Given the description of an element on the screen output the (x, y) to click on. 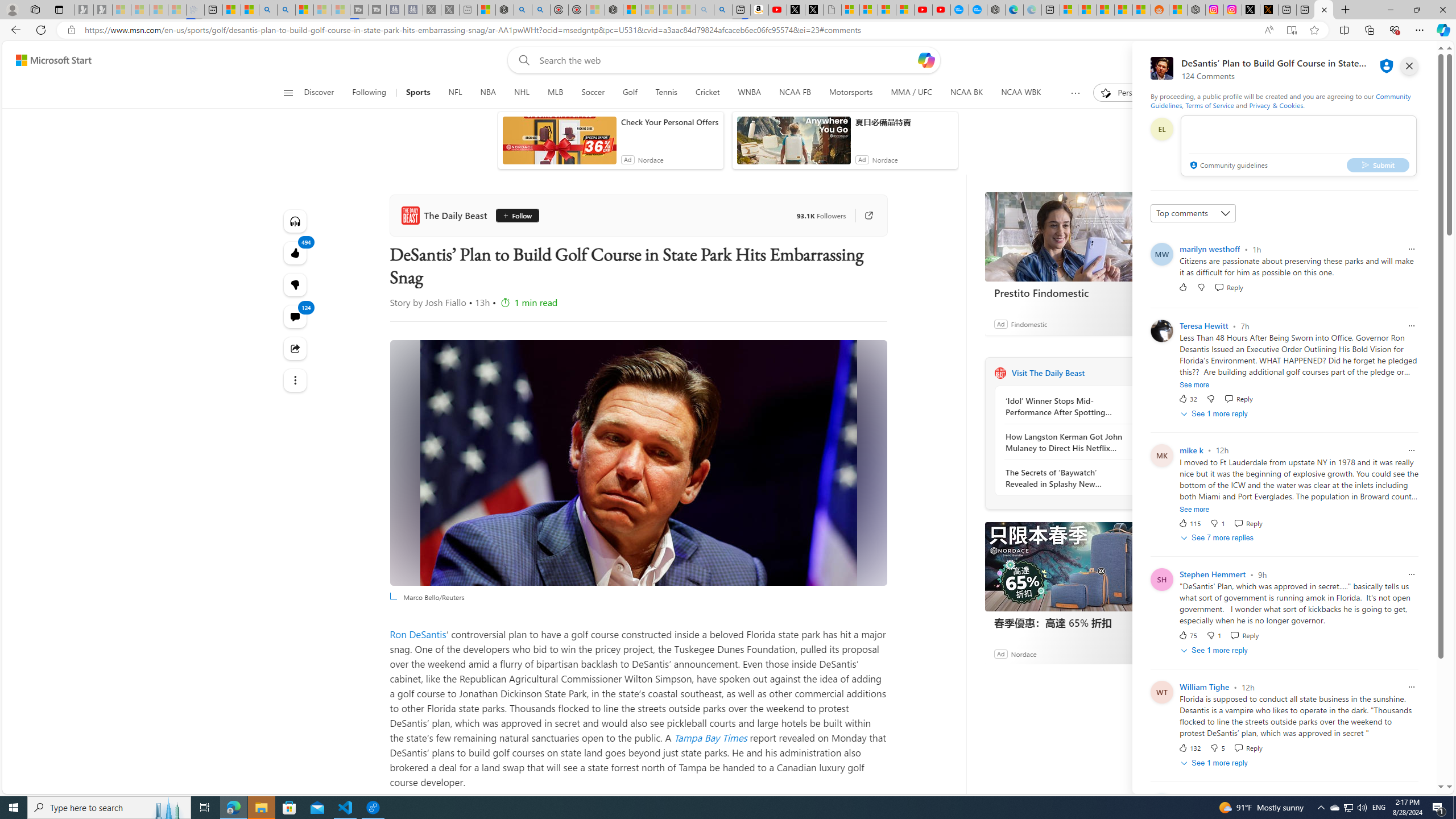
Soccer (592, 92)
Report comment (1411, 798)
494 Like (295, 252)
MMA / UFC (911, 92)
Enter your search term (726, 59)
Microsoft rewards (1374, 60)
WNBA (749, 92)
Notifications (1397, 60)
See 7 more replies (1218, 538)
Community Guidelines (1280, 100)
Follow (515, 215)
